Given the description of an element on the screen output the (x, y) to click on. 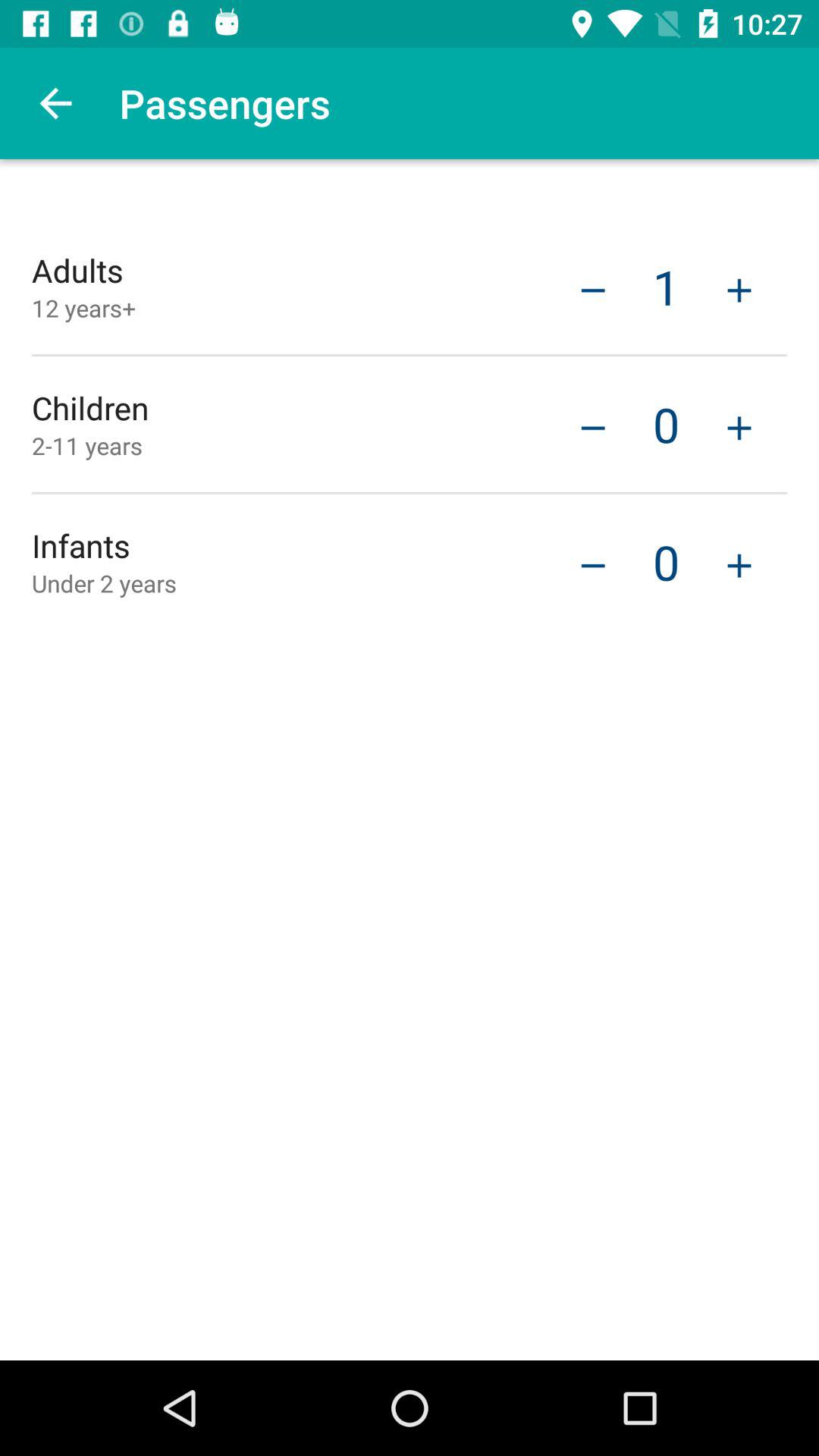
launch icon to the right of 1 (739, 288)
